Given the description of an element on the screen output the (x, y) to click on. 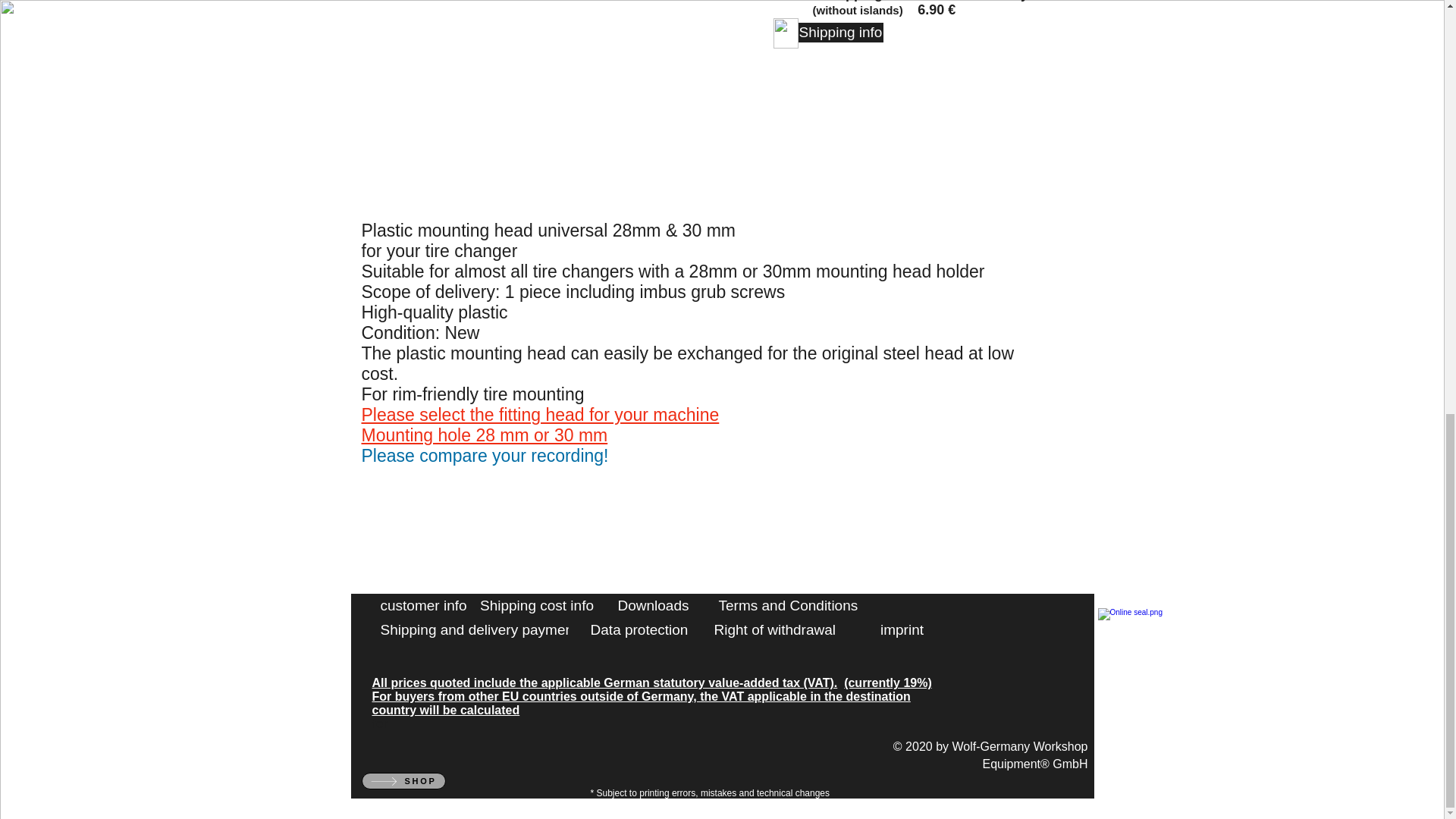
customer info (423, 605)
imprint (901, 629)
Right of withdrawal (774, 629)
Shipping info (839, 32)
Shipping and delivery payment (479, 629)
SHOP (403, 781)
Data protection (639, 629)
Terms and Conditions (789, 605)
Shipping cost info (536, 605)
Machine.jpg (1141, 650)
Downloads (652, 605)
